Given the description of an element on the screen output the (x, y) to click on. 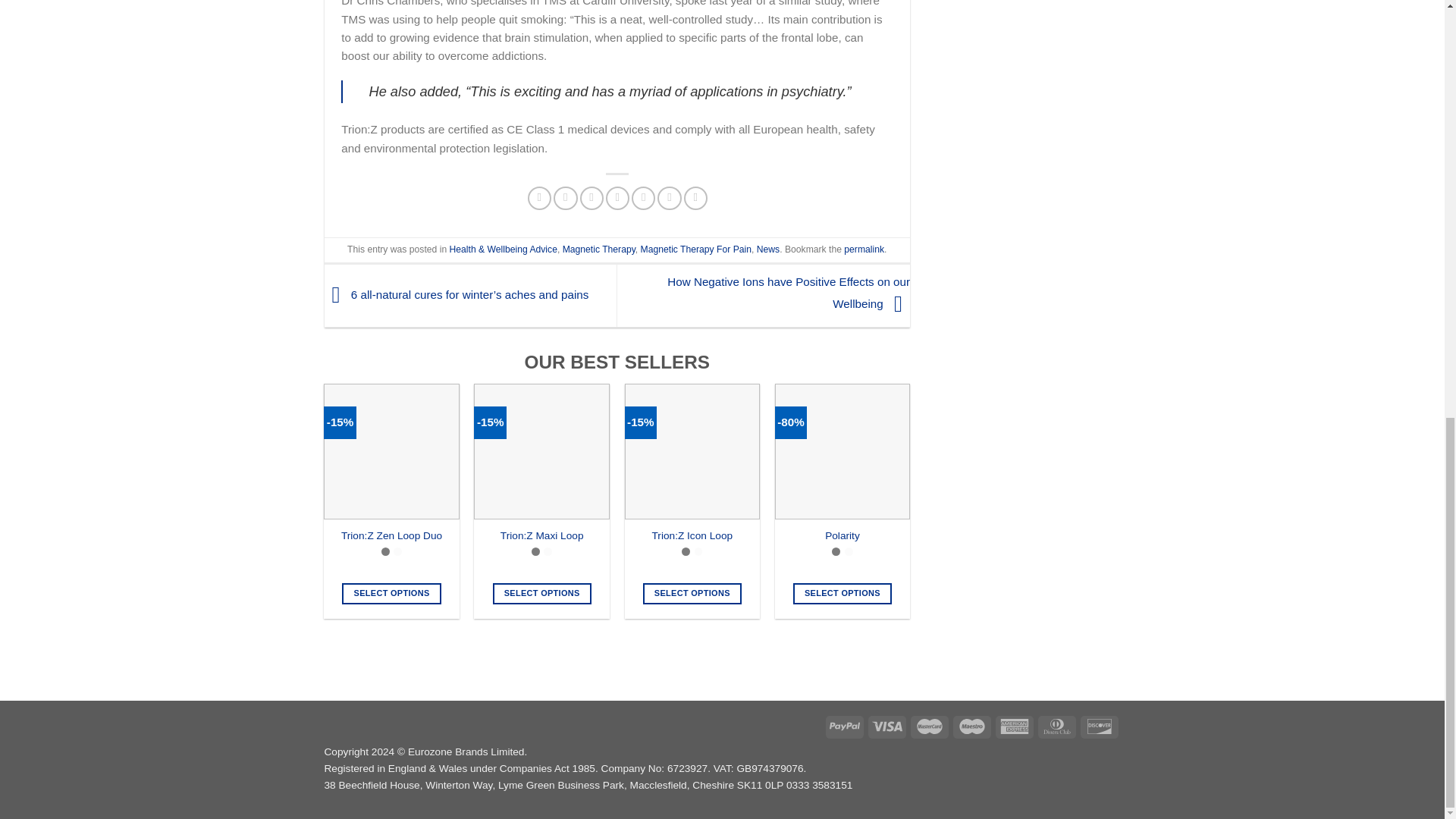
Share on LinkedIn (669, 197)
Email to a Friend (590, 197)
Share on VKontakte (643, 197)
Pin on Pinterest (616, 197)
Share on Twitter (564, 197)
Share on Tumblr (695, 197)
Share on Facebook (539, 197)
Permalink to Magnetic Therapy in Medical studies (863, 249)
